Given the description of an element on the screen output the (x, y) to click on. 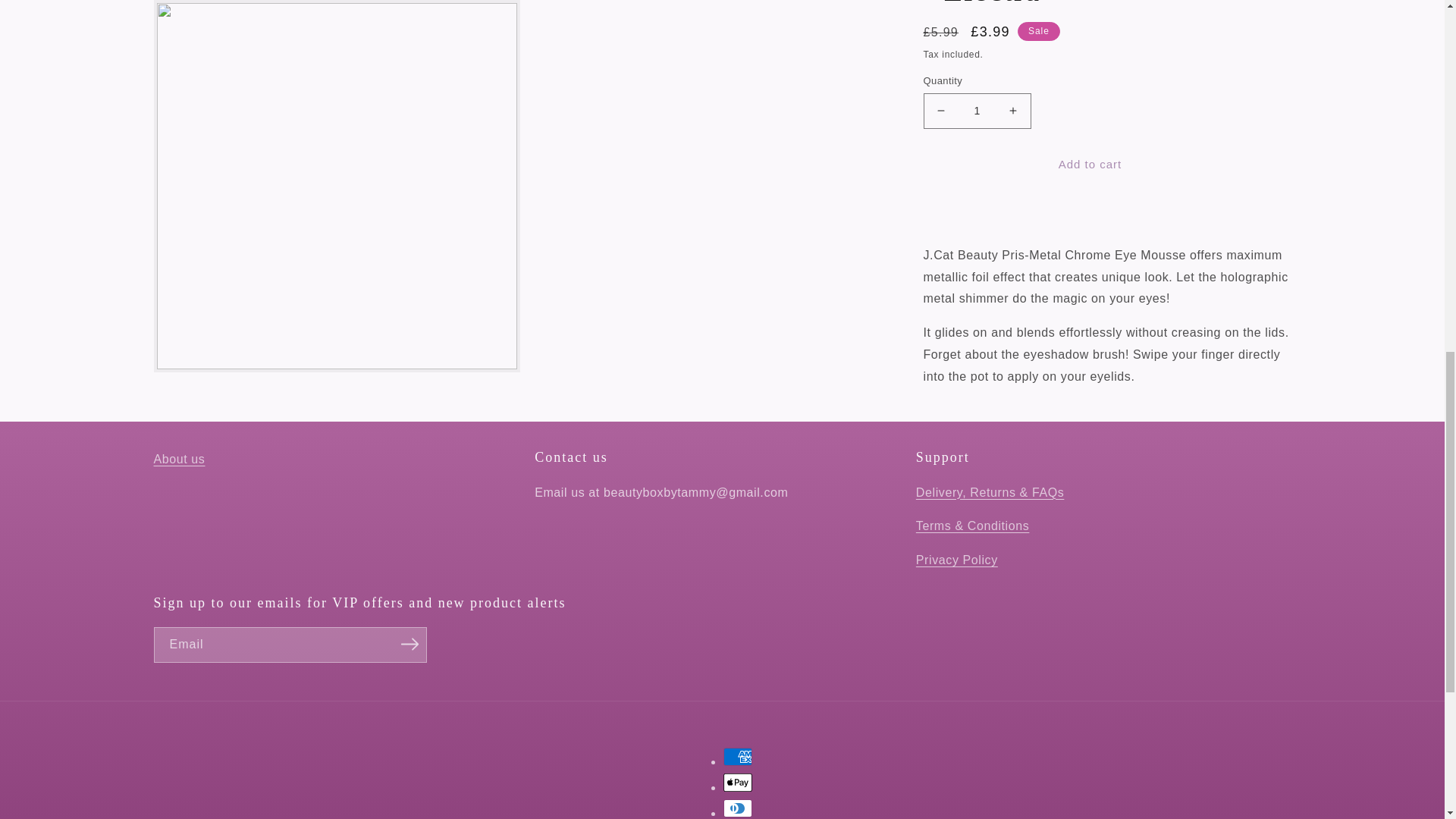
Apple Pay (737, 782)
About (178, 459)
American Express (737, 756)
Diners Club (737, 808)
Privacy Policy (956, 559)
